Given the description of an element on the screen output the (x, y) to click on. 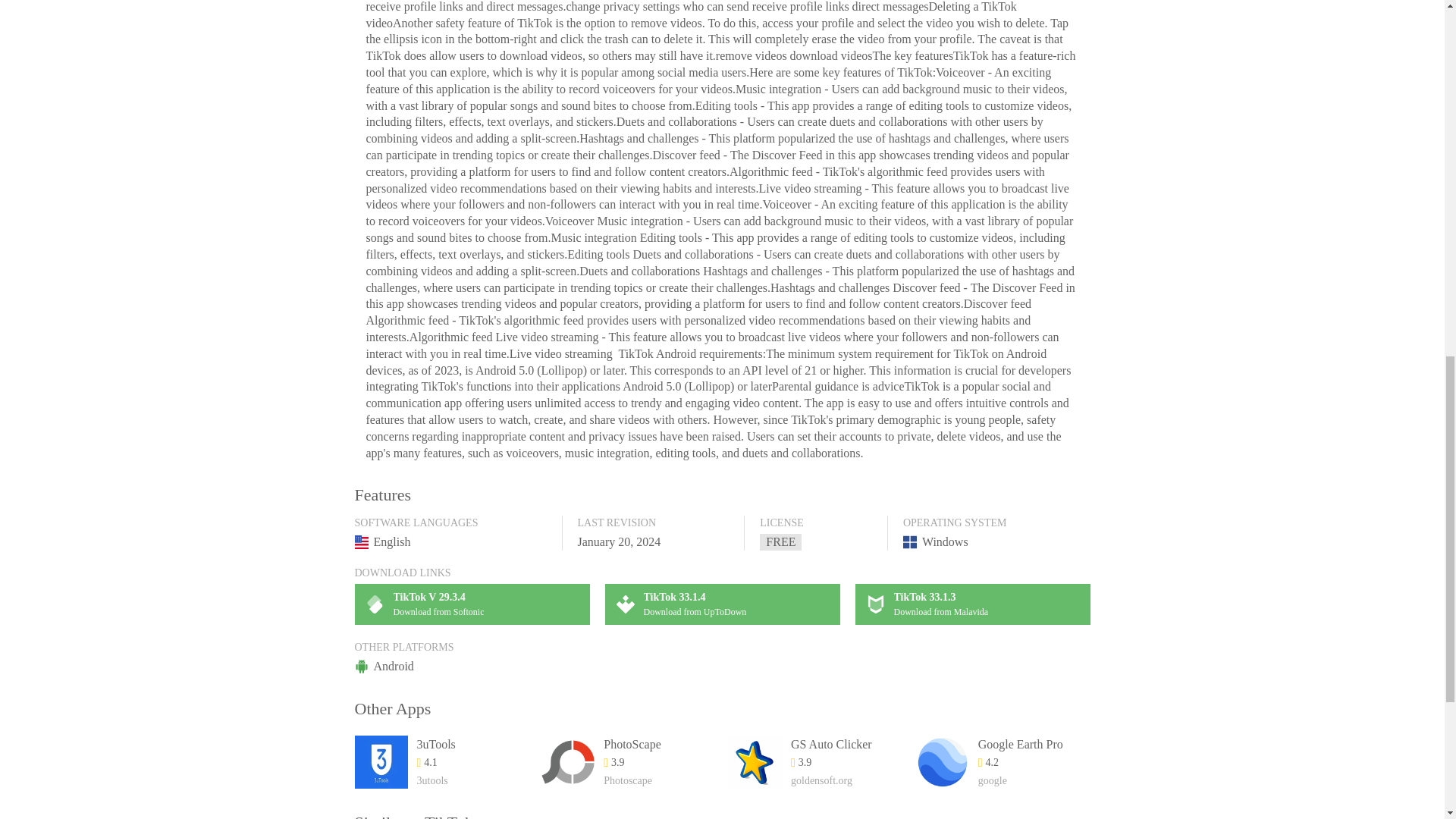
GS Auto Clicker (831, 744)
PhotoScape (632, 744)
Google Earth Pro (973, 603)
3uTools (1020, 744)
English (722, 603)
Android (435, 744)
